Given the description of an element on the screen output the (x, y) to click on. 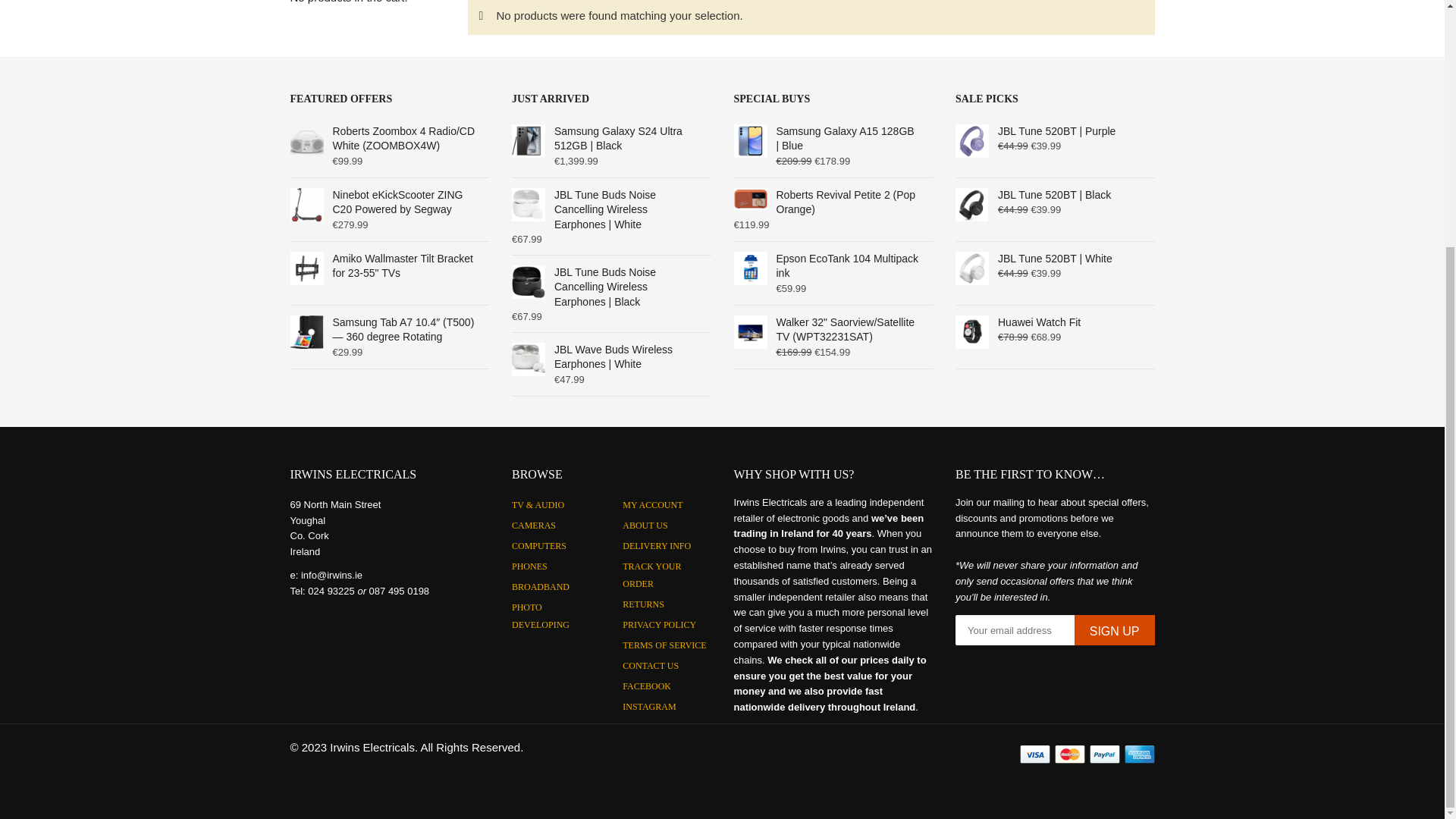
Sign up (1114, 630)
